Given the description of an element on the screen output the (x, y) to click on. 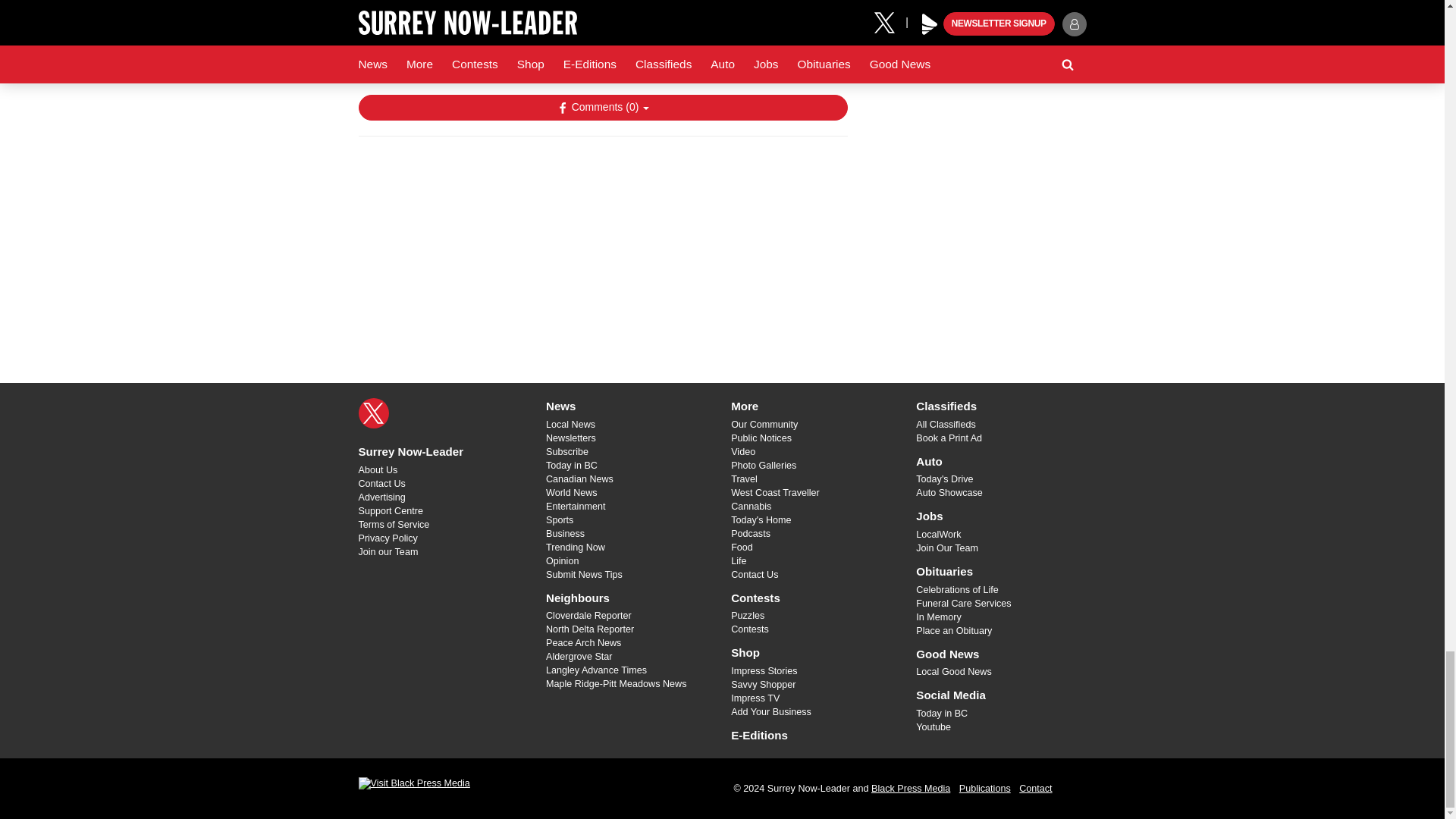
3rd party ad content (602, 246)
Show Comments (602, 107)
X (373, 413)
